Given the description of an element on the screen output the (x, y) to click on. 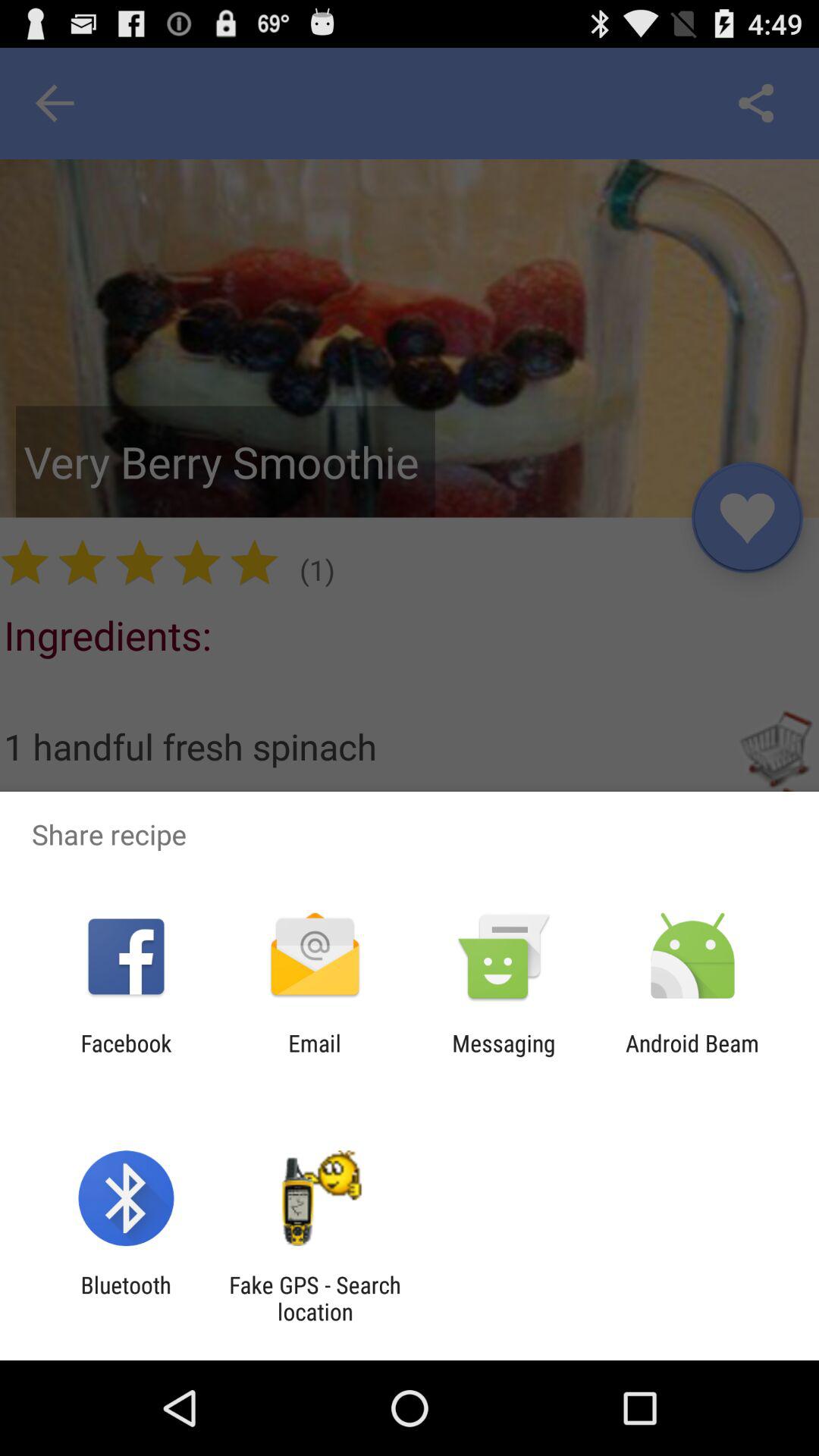
scroll until facebook app (125, 1056)
